Given the description of an element on the screen output the (x, y) to click on. 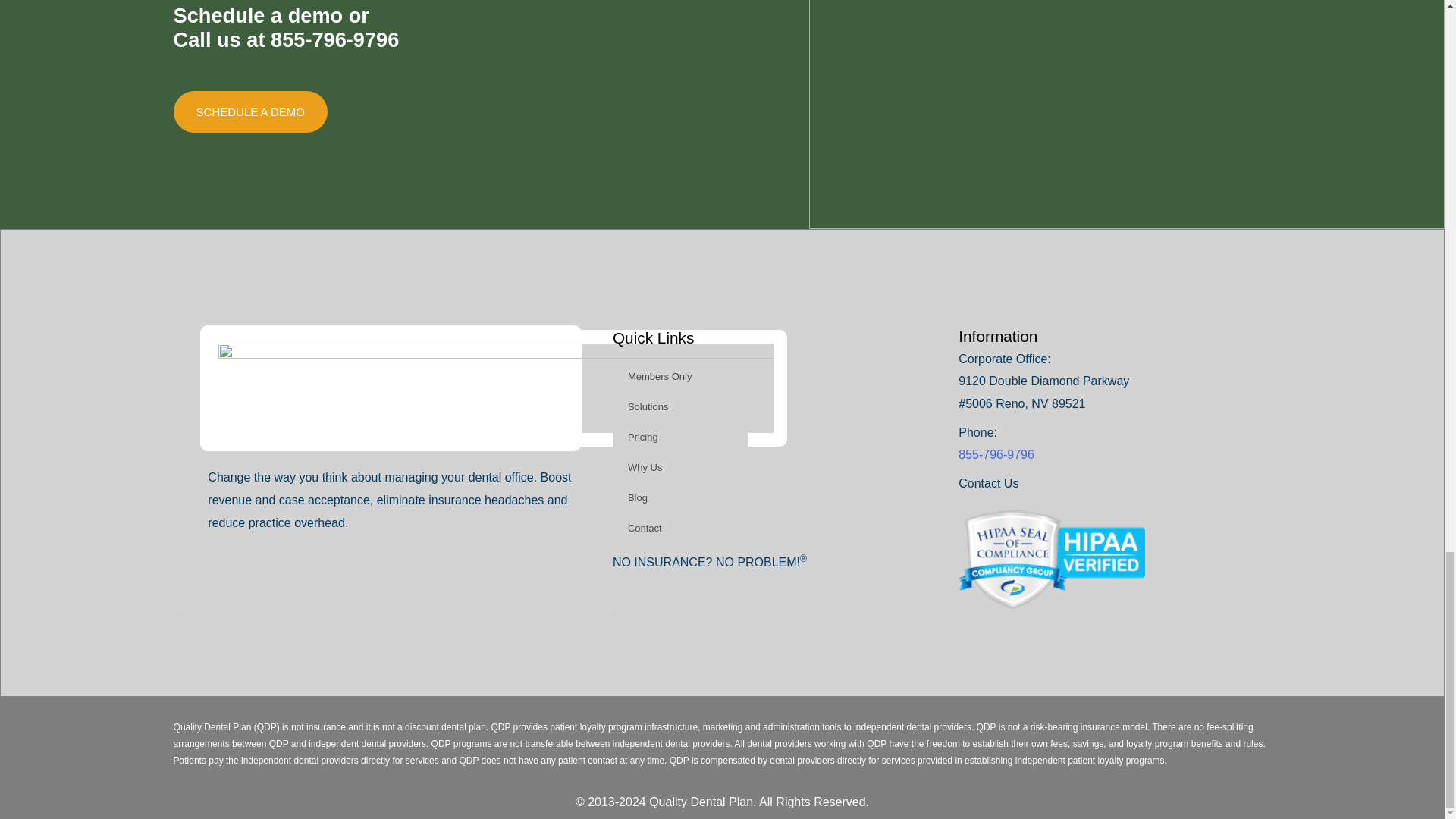
Members Only (680, 376)
Why Us (680, 467)
Pricing (680, 437)
Solutions (680, 407)
SCHEDULE A DEMO (250, 111)
855-796-9796 (334, 39)
